Given the description of an element on the screen output the (x, y) to click on. 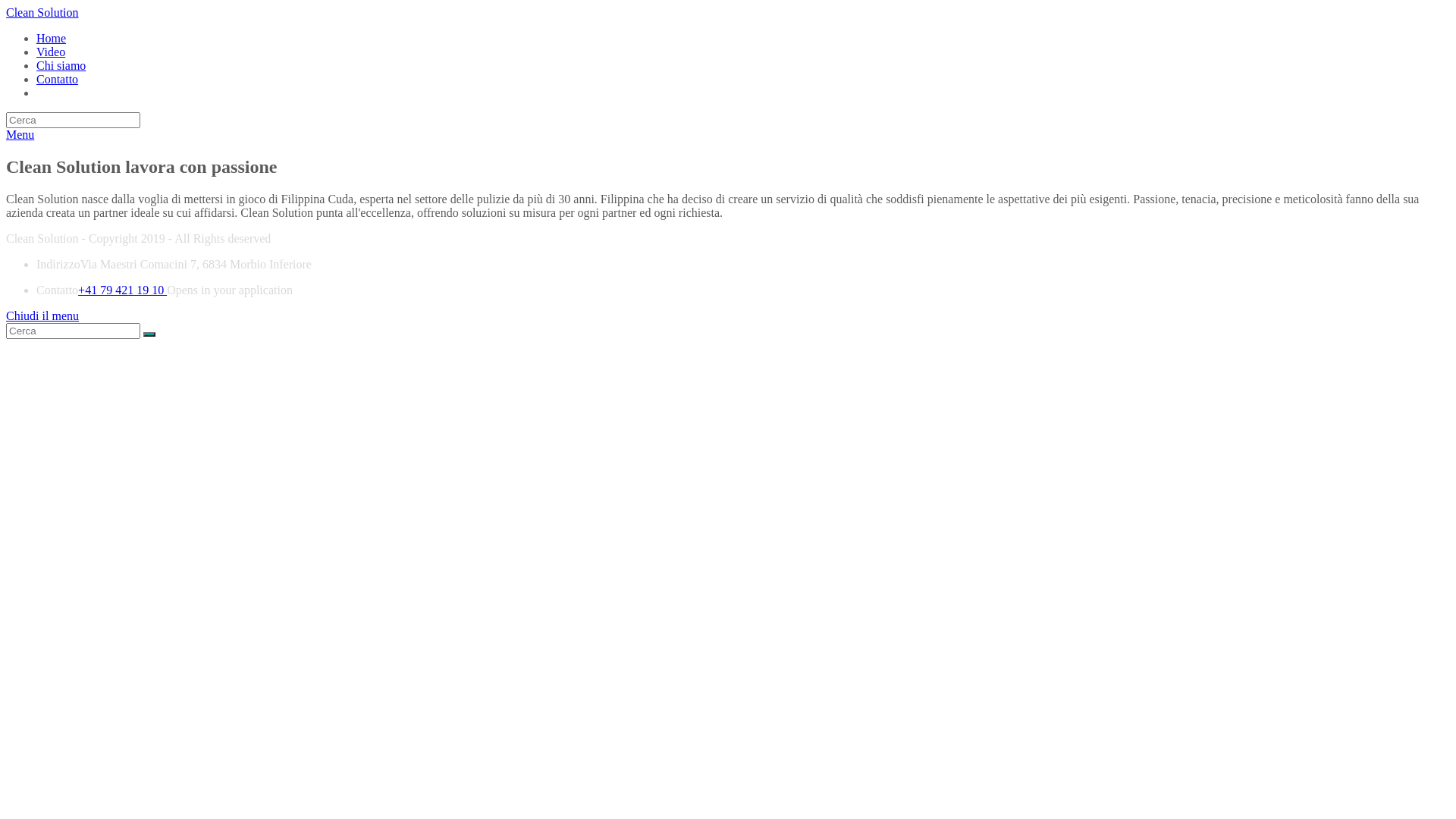
+41 79 421 19 10 Element type: text (122, 289)
Video Element type: text (50, 51)
Home Element type: text (50, 37)
Contatto Element type: text (57, 78)
Clean Solution Element type: text (42, 12)
Menu Element type: text (20, 134)
Chiudi il menu Element type: text (42, 315)
Chi siamo Element type: text (60, 65)
